Given the description of an element on the screen output the (x, y) to click on. 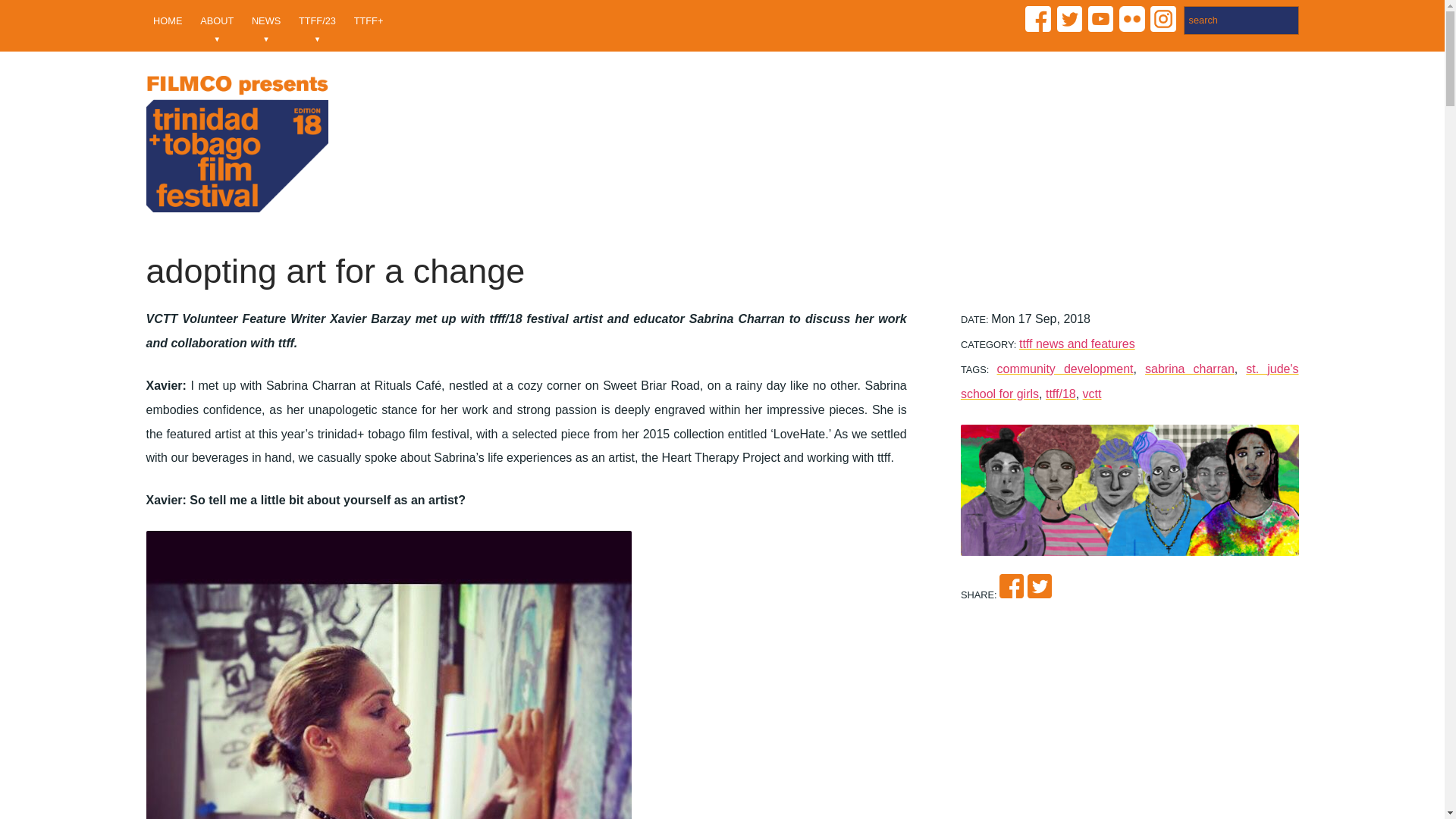
vctt (1092, 393)
st. jude's school for girls (1129, 381)
ttff news and features (1077, 343)
sabrina charran (1189, 368)
Search (1240, 20)
ABOUT (217, 25)
Click to Enlarge: Adopting Art for A Change (1129, 490)
community development (1065, 368)
